Given the description of an element on the screen output the (x, y) to click on. 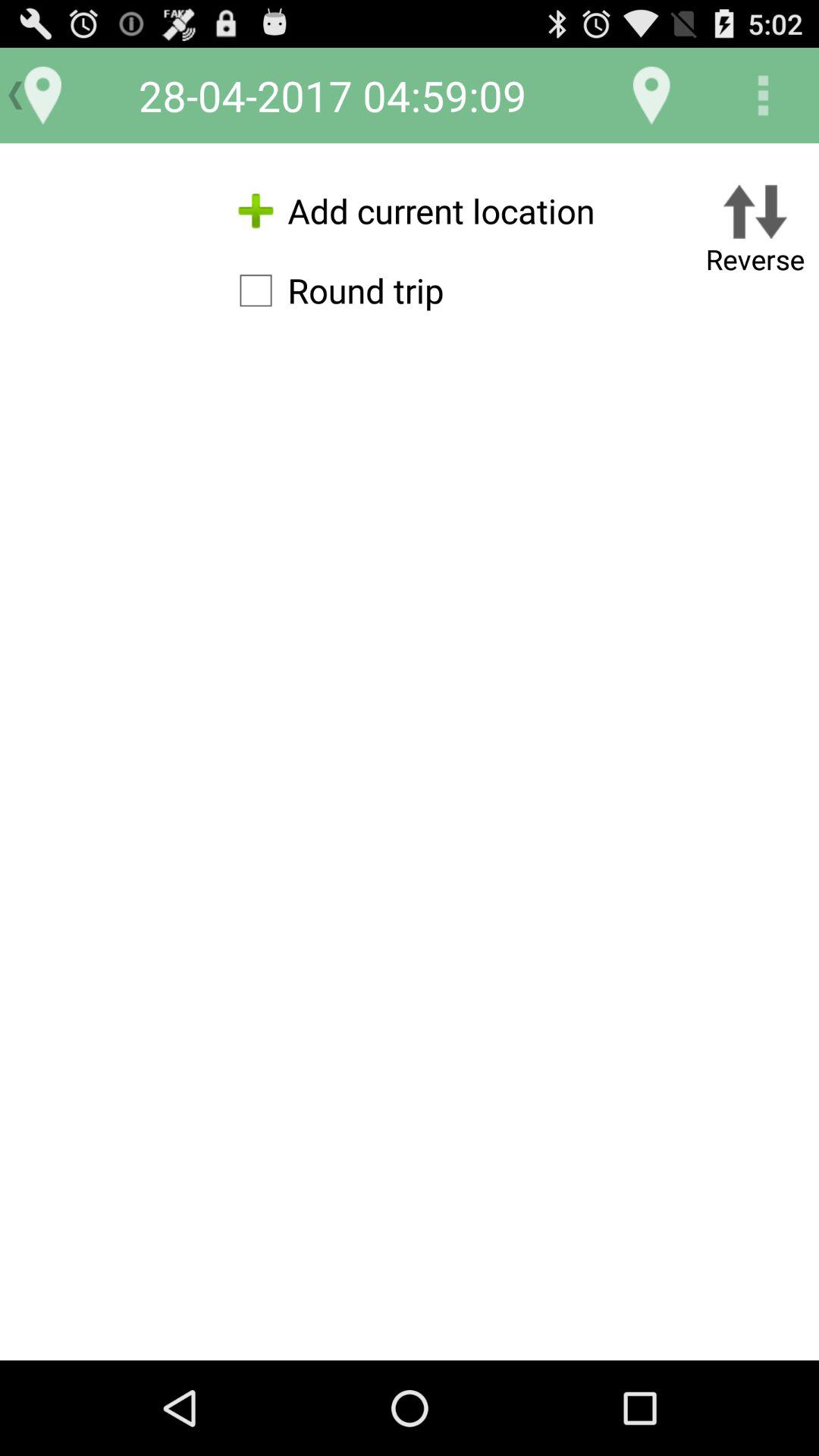
tap the item to the left of the reverse button (334, 290)
